Given the description of an element on the screen output the (x, y) to click on. 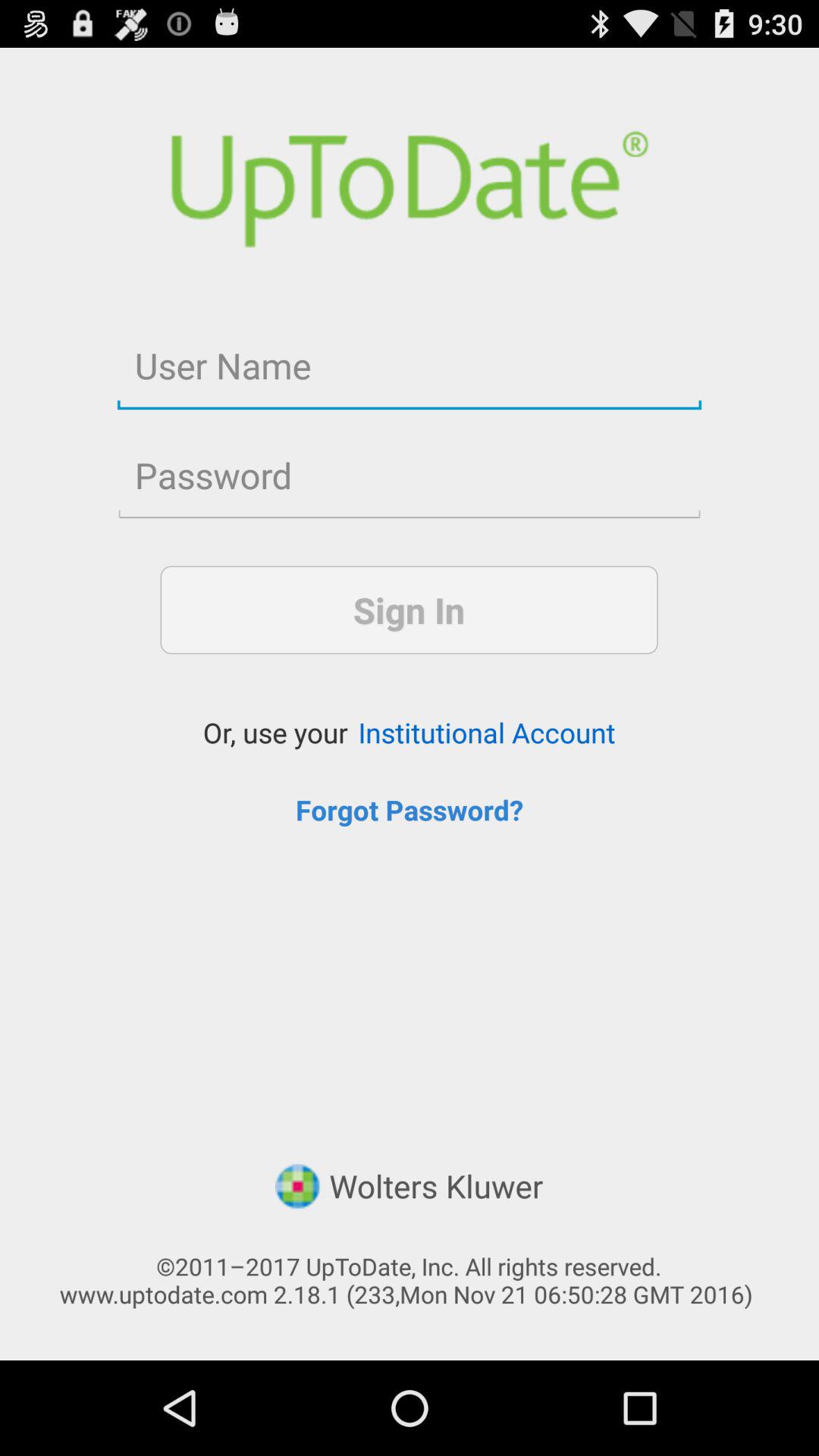
turn on item above the wolters kluwer item (409, 809)
